Given the description of an element on the screen output the (x, y) to click on. 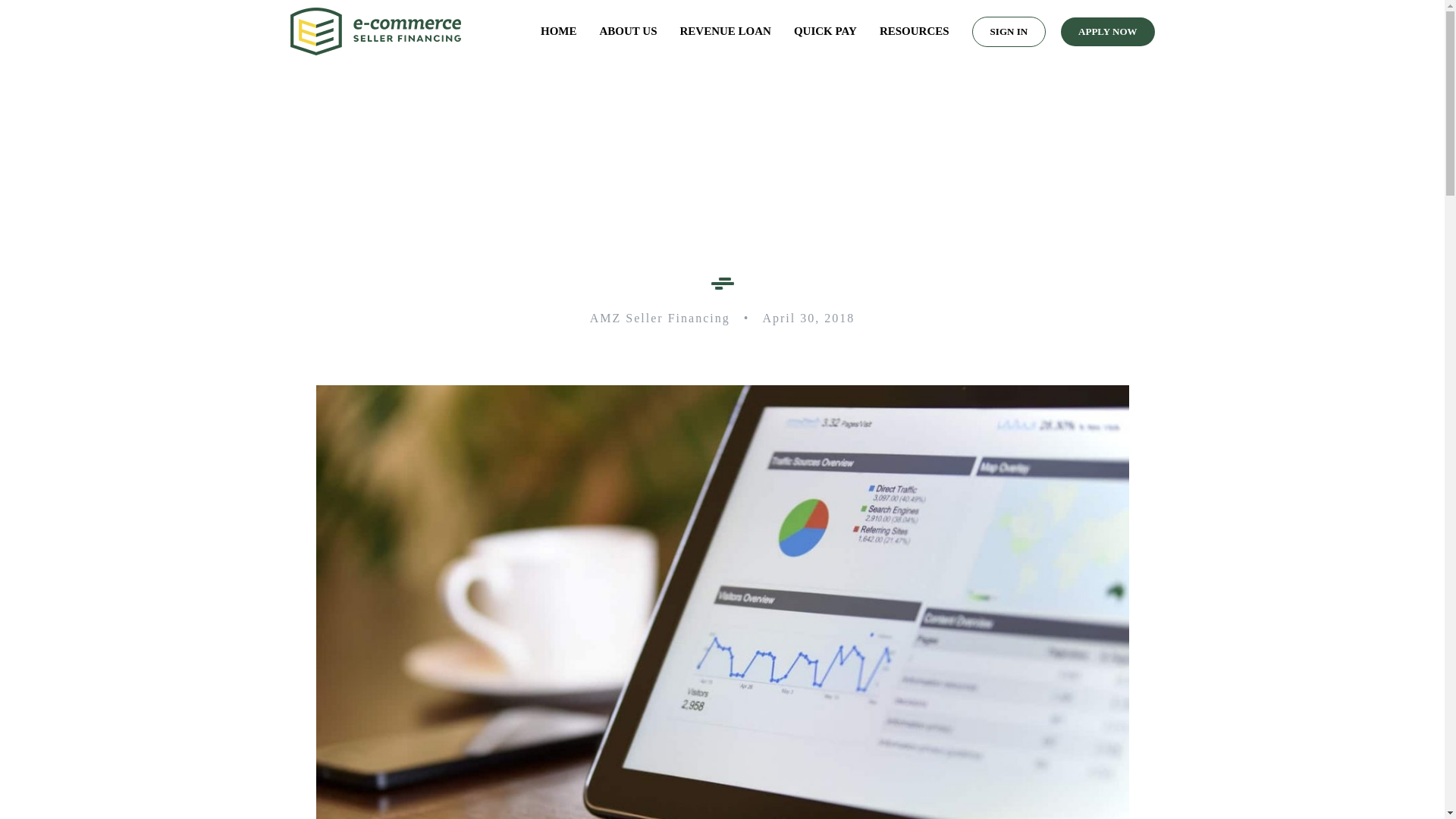
RESOURCES (914, 31)
REVENUE LOAN (725, 31)
SIGN IN (1009, 31)
ABOUT US (628, 31)
APPLY NOW (1107, 31)
QUICK PAY (825, 31)
divide (722, 283)
pexels-photo-106344-1 (722, 390)
